Given the description of an element on the screen output the (x, y) to click on. 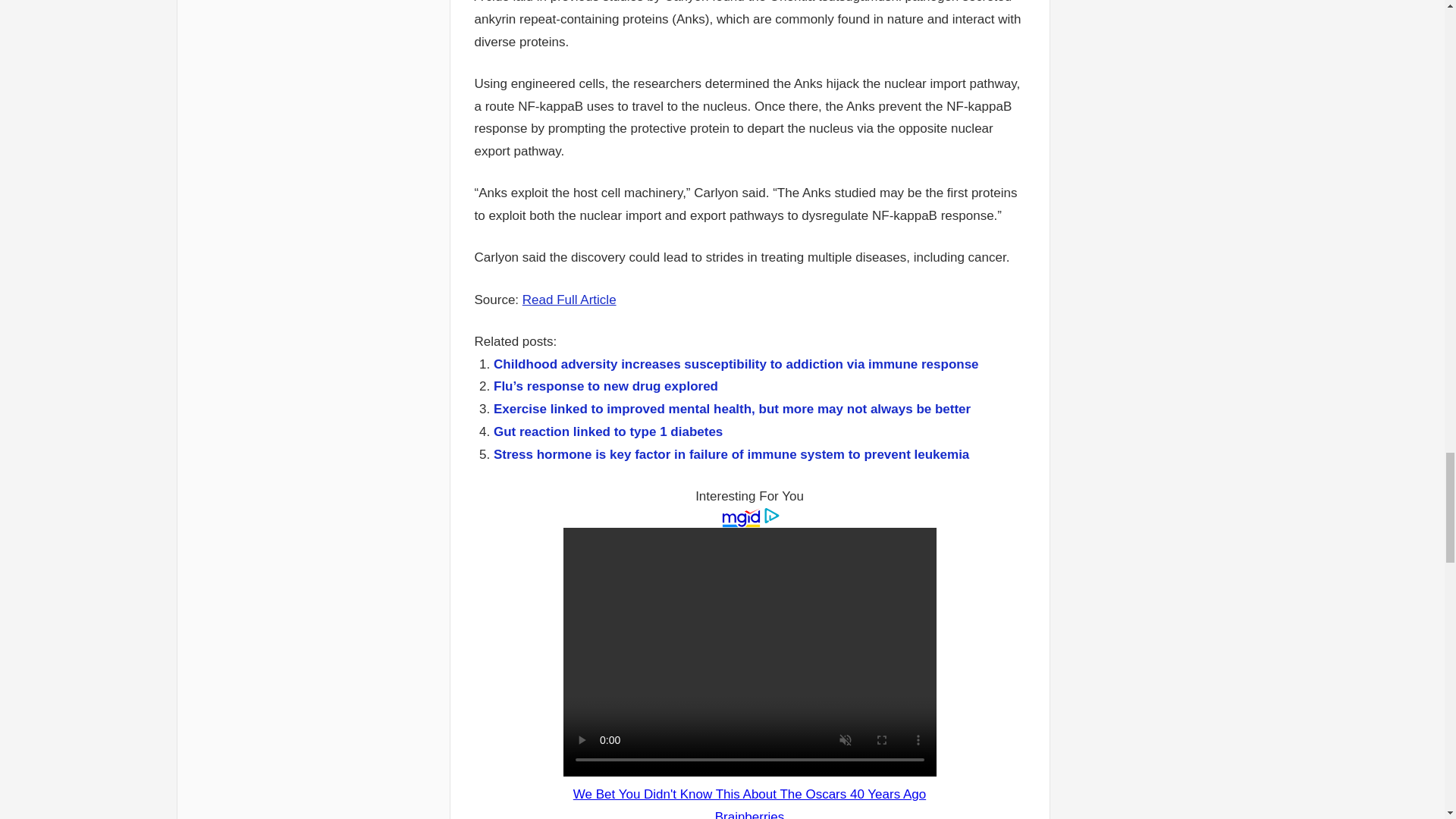
Read Full Article (568, 299)
Gut reaction linked to type 1 diabetes (607, 431)
Gut reaction linked to type 1 diabetes (607, 431)
